Given the description of an element on the screen output the (x, y) to click on. 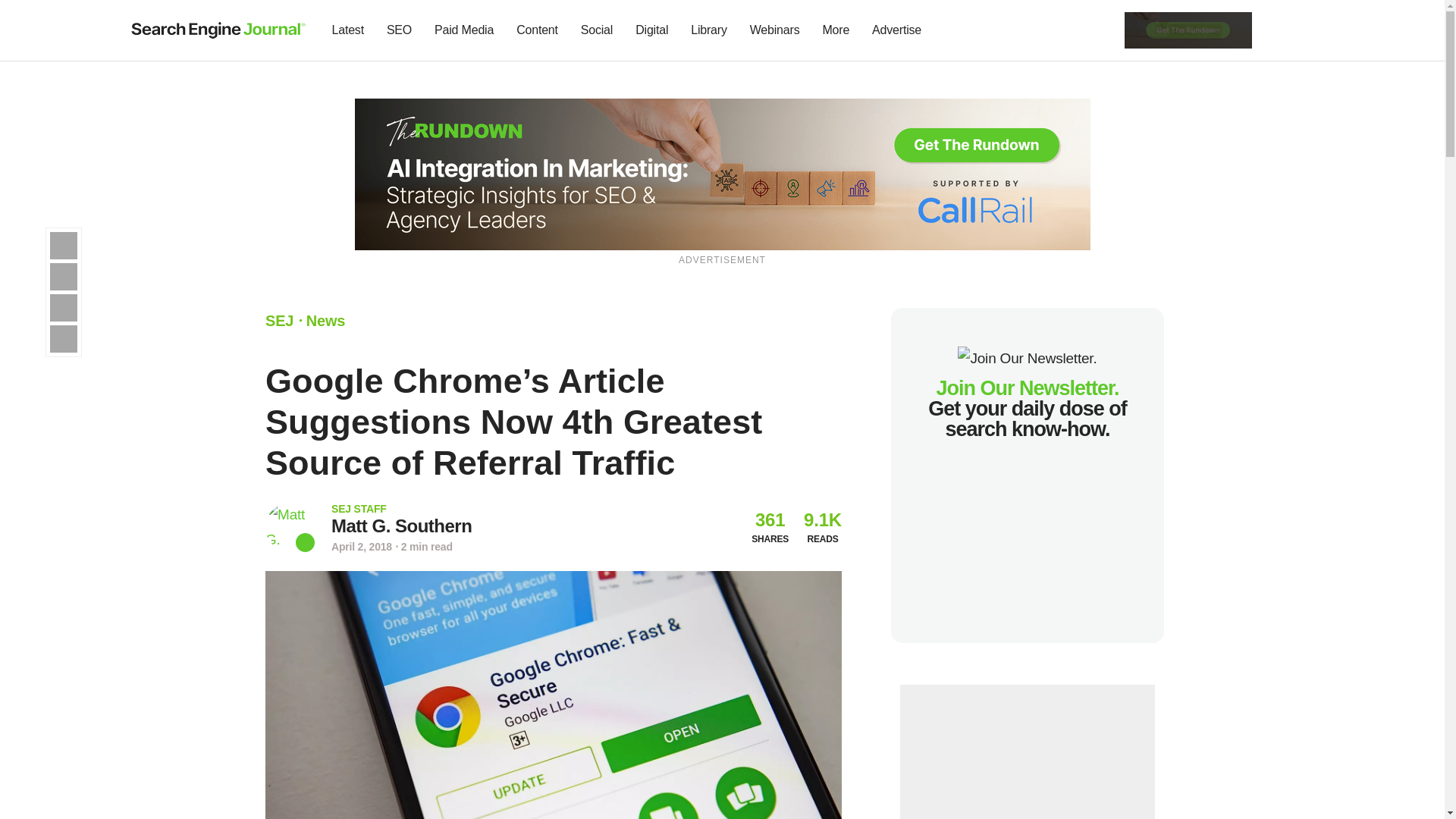
Get The Rundown (1187, 28)
Subscribe to our Newsletter (1277, 30)
Latest (347, 30)
Get The Rundown (722, 172)
Go to Author Page (401, 526)
Go to Author Page (289, 527)
Paid Media (464, 30)
